Given the description of an element on the screen output the (x, y) to click on. 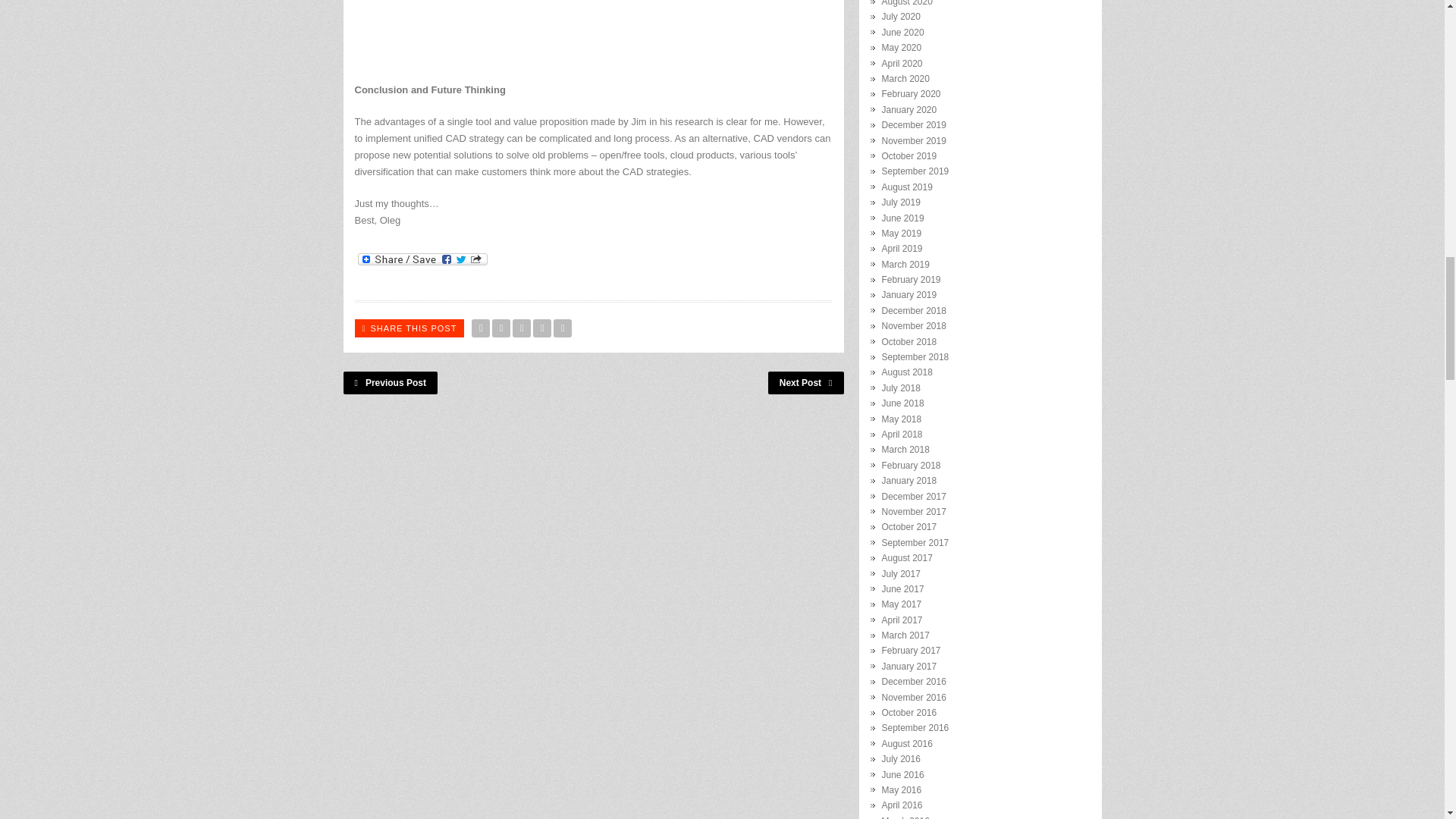
Next Post (806, 382)
Share on LinkedIn (562, 328)
Previous Post (389, 382)
Share on Pinterest (541, 328)
Share on Twitter (480, 328)
Share on Facebook (501, 328)
